Given the description of an element on the screen output the (x, y) to click on. 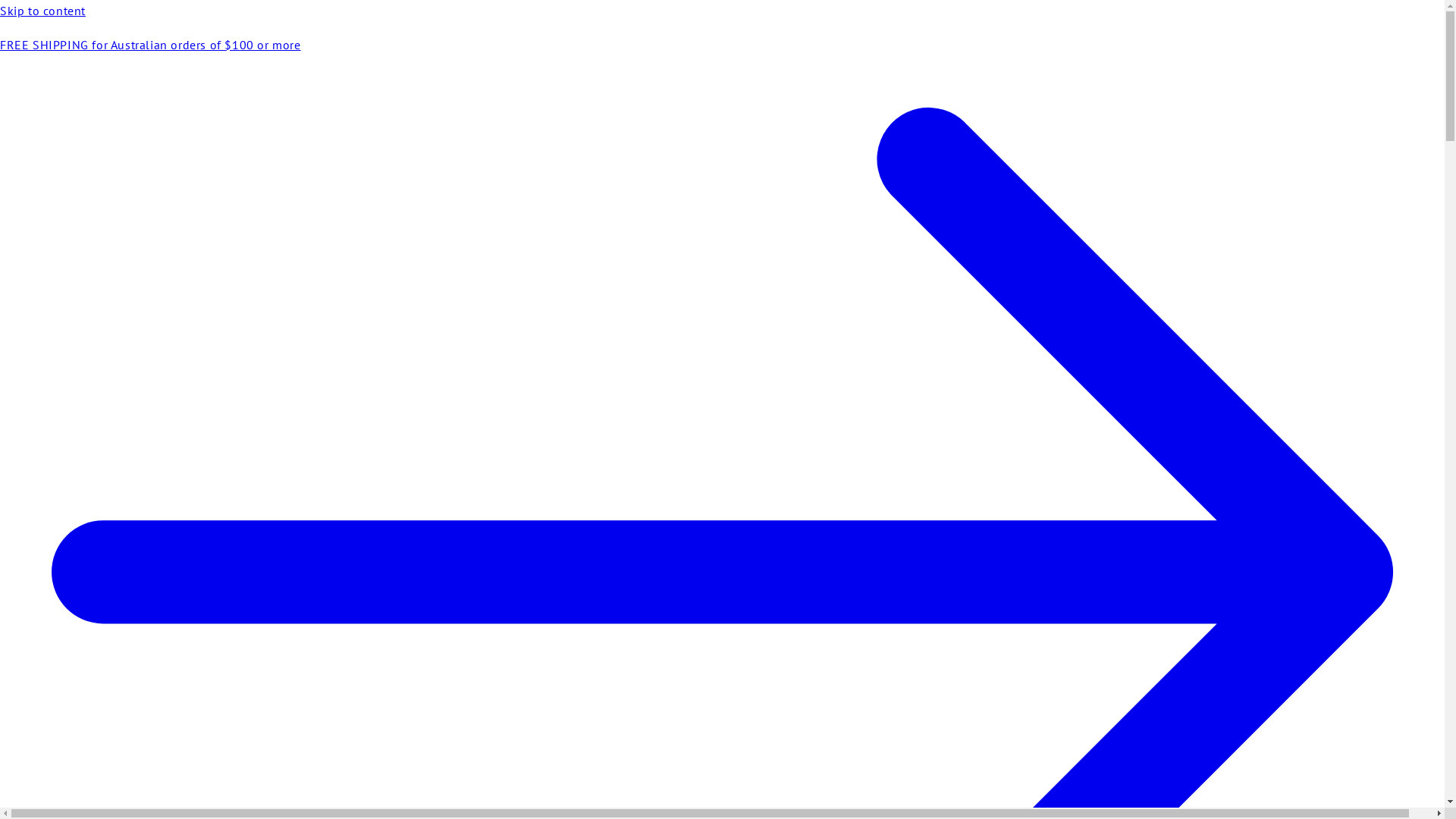
Skip to content Element type: text (722, 10)
